Given the description of an element on the screen output the (x, y) to click on. 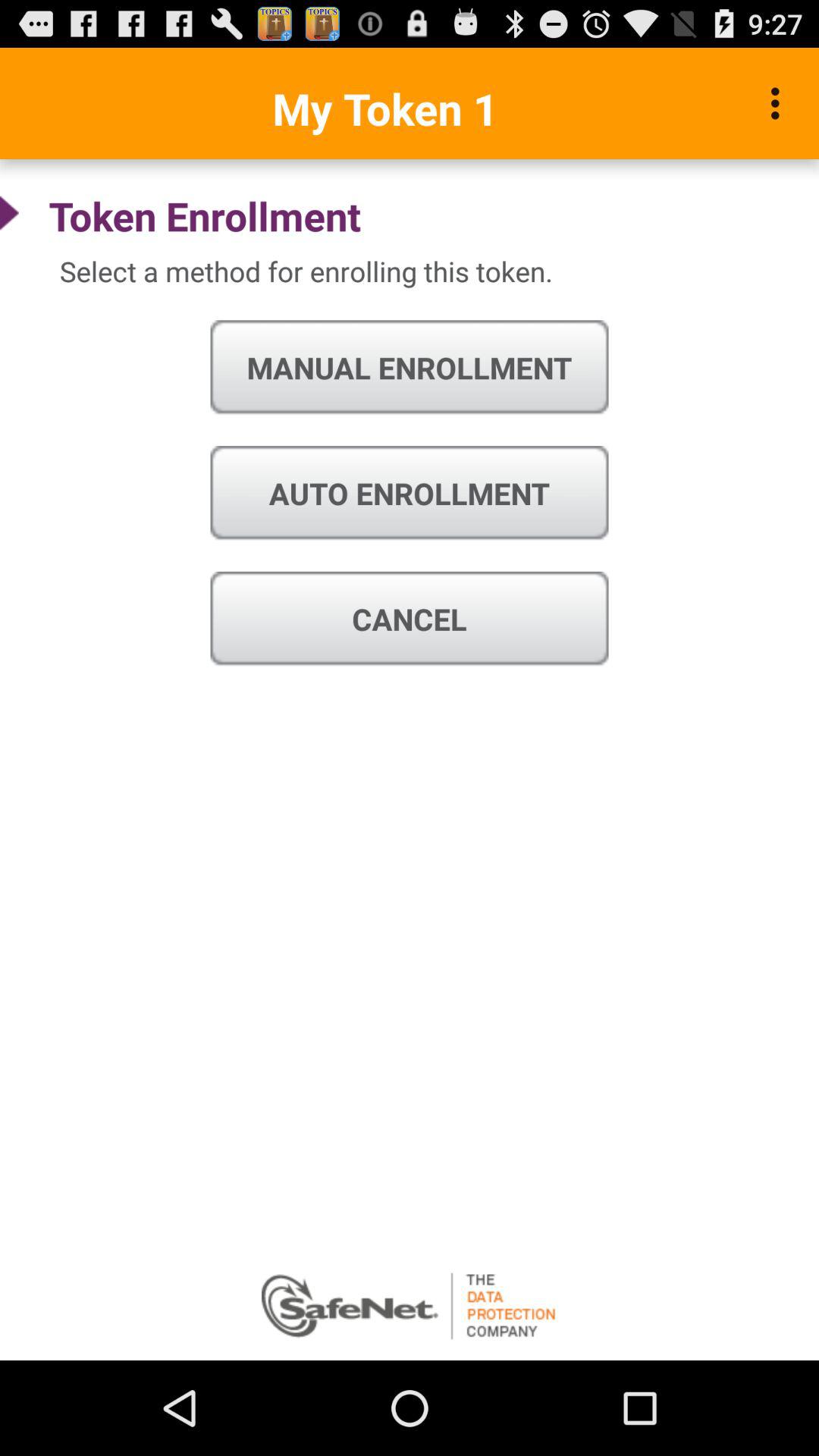
turn off icon at the top right corner (779, 103)
